Given the description of an element on the screen output the (x, y) to click on. 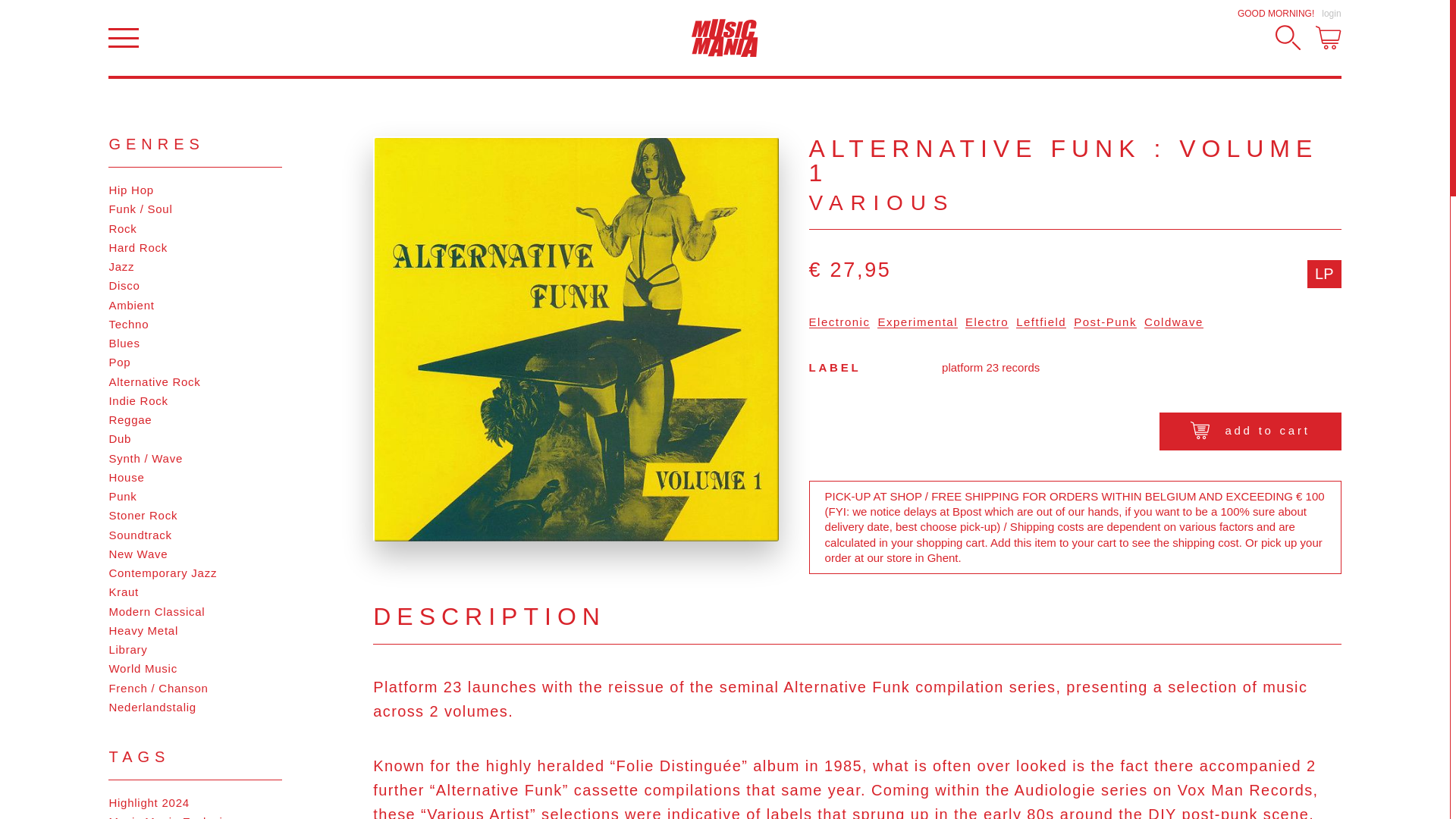
Hard Rock (194, 247)
Blues (194, 343)
New Wave (194, 554)
Modern Classical (194, 611)
Indie Rock (194, 400)
Rock (194, 228)
Jazz (194, 266)
Hip Hop (194, 190)
login (1331, 13)
Hip Hop (194, 190)
